Given the description of an element on the screen output the (x, y) to click on. 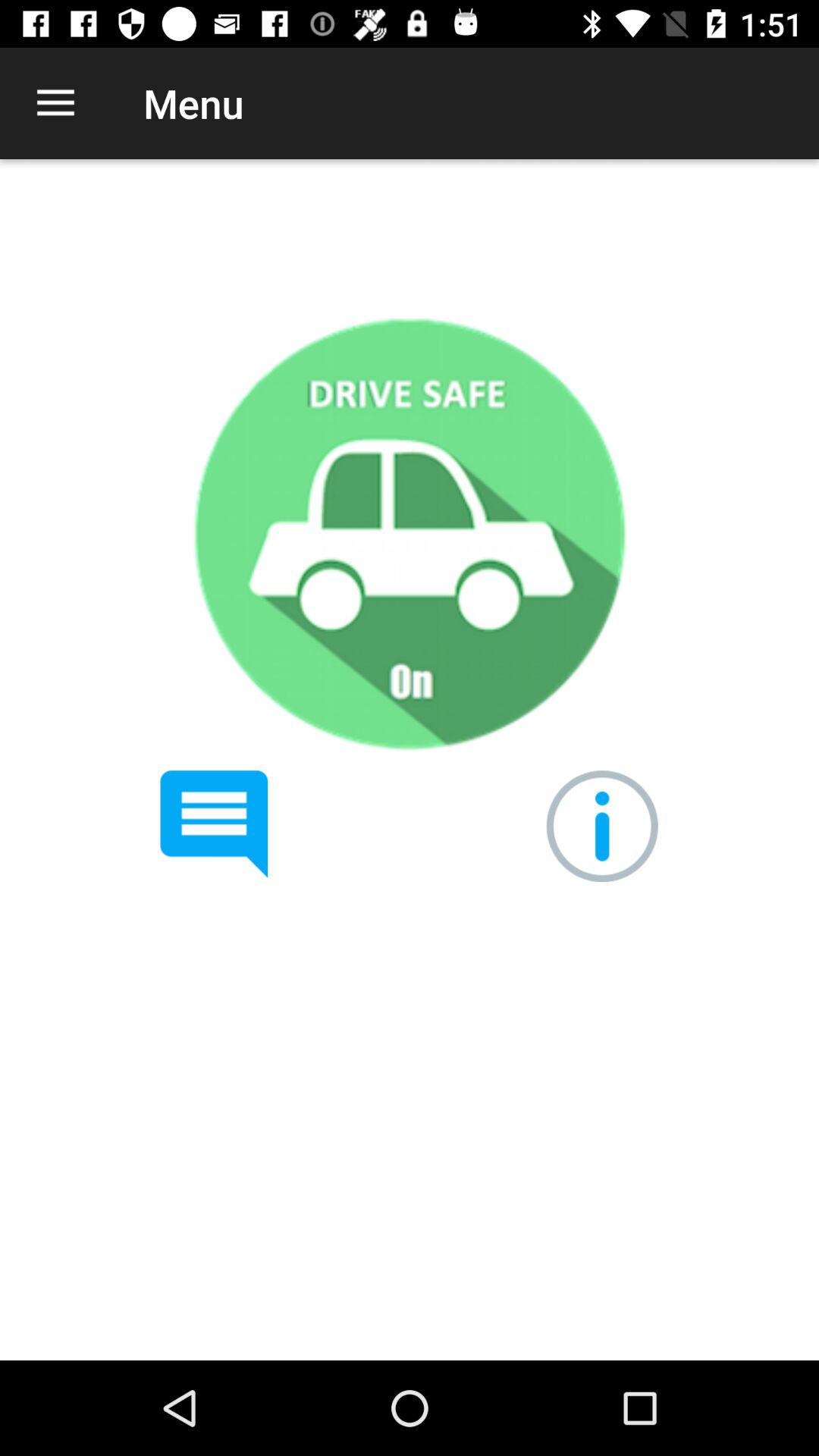
infromation button (602, 826)
